Given the description of an element on the screen output the (x, y) to click on. 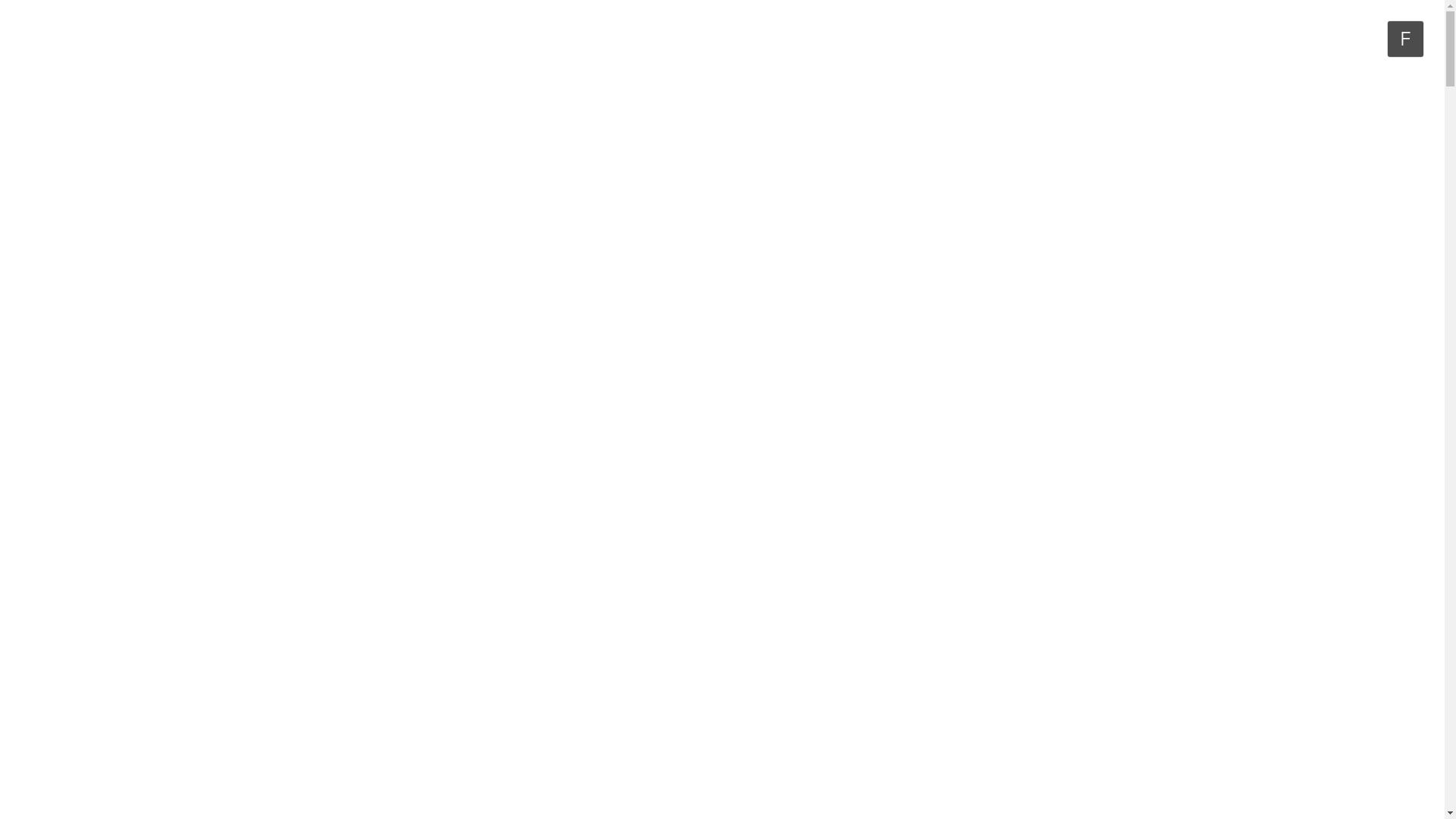
F Element type: text (1405, 39)
